Given the description of an element on the screen output the (x, y) to click on. 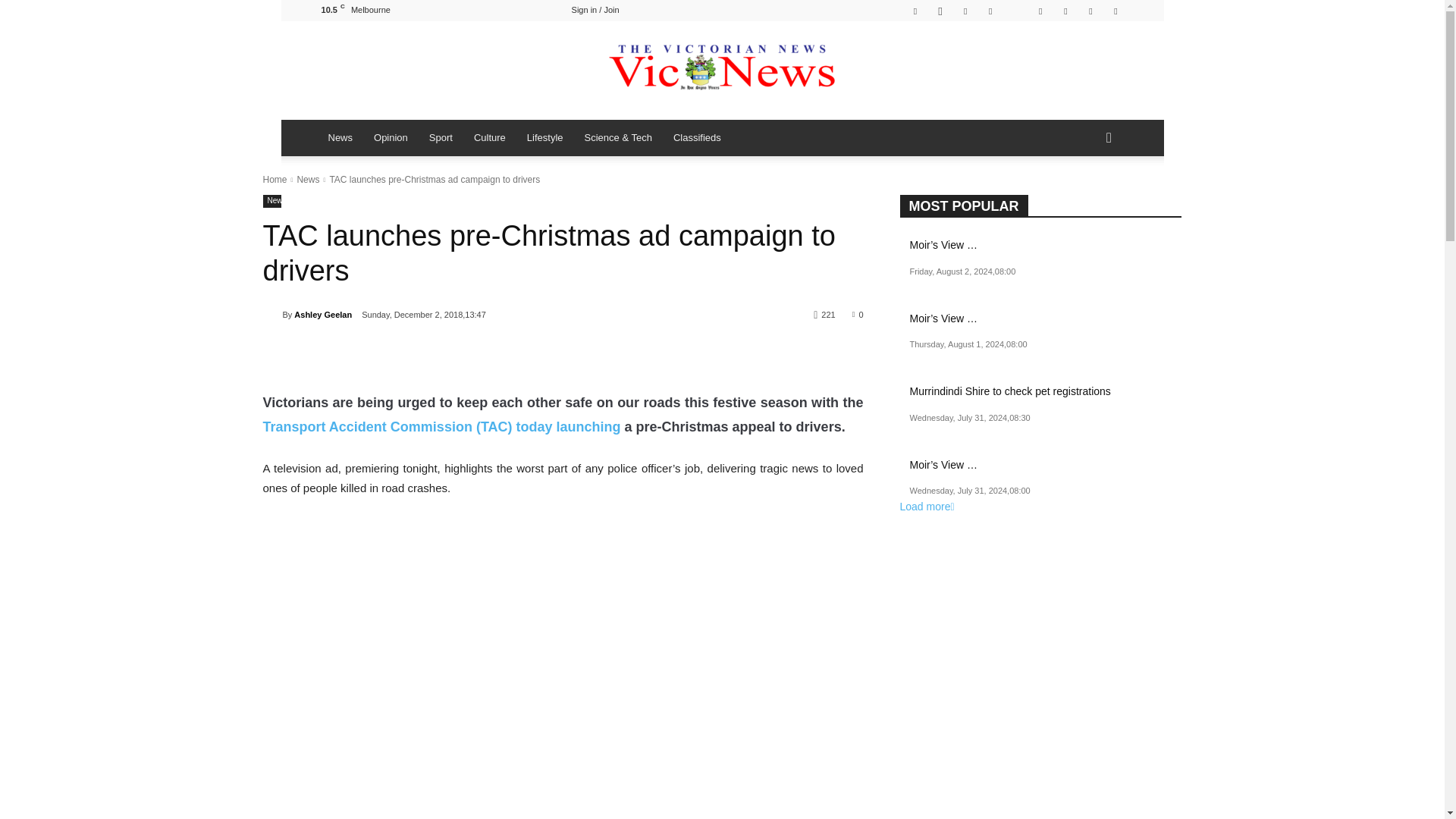
Facebook (915, 10)
Linkedin (964, 10)
Youtube (1114, 10)
Instagram (940, 10)
TikTok (1015, 10)
Vimeo (1090, 10)
Soundcloud (989, 10)
Tumblr (1040, 10)
Twitter (1065, 10)
